Given the description of an element on the screen output the (x, y) to click on. 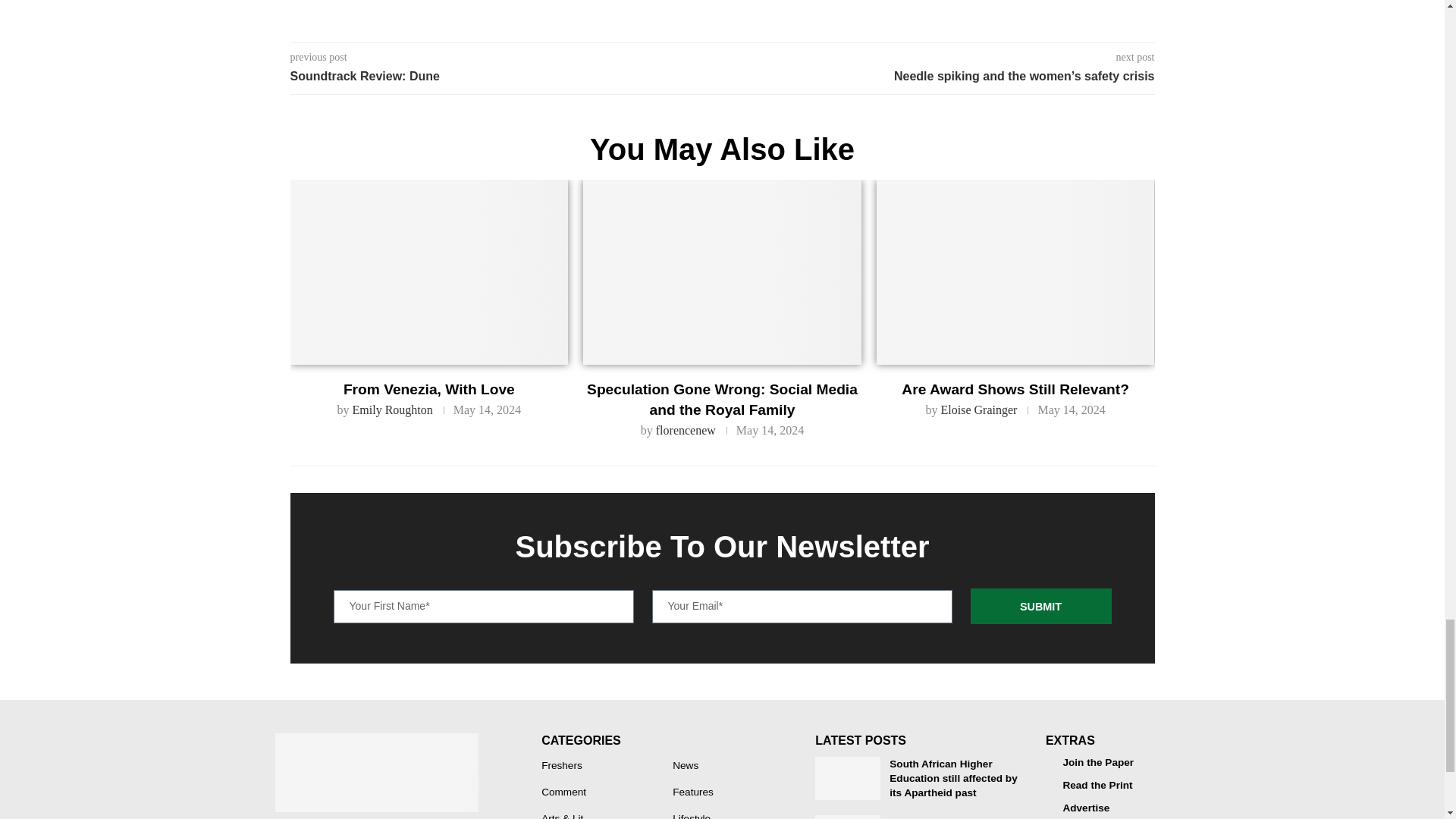
florencenew (686, 430)
From Venezia, With Love (428, 271)
Speculation Gone Wrong: Social Media and the Royal Family (722, 271)
Eloise Grainger (978, 409)
Emily Roughton (392, 409)
Are Award Shows Still Relevant? (1015, 271)
